Given the description of an element on the screen output the (x, y) to click on. 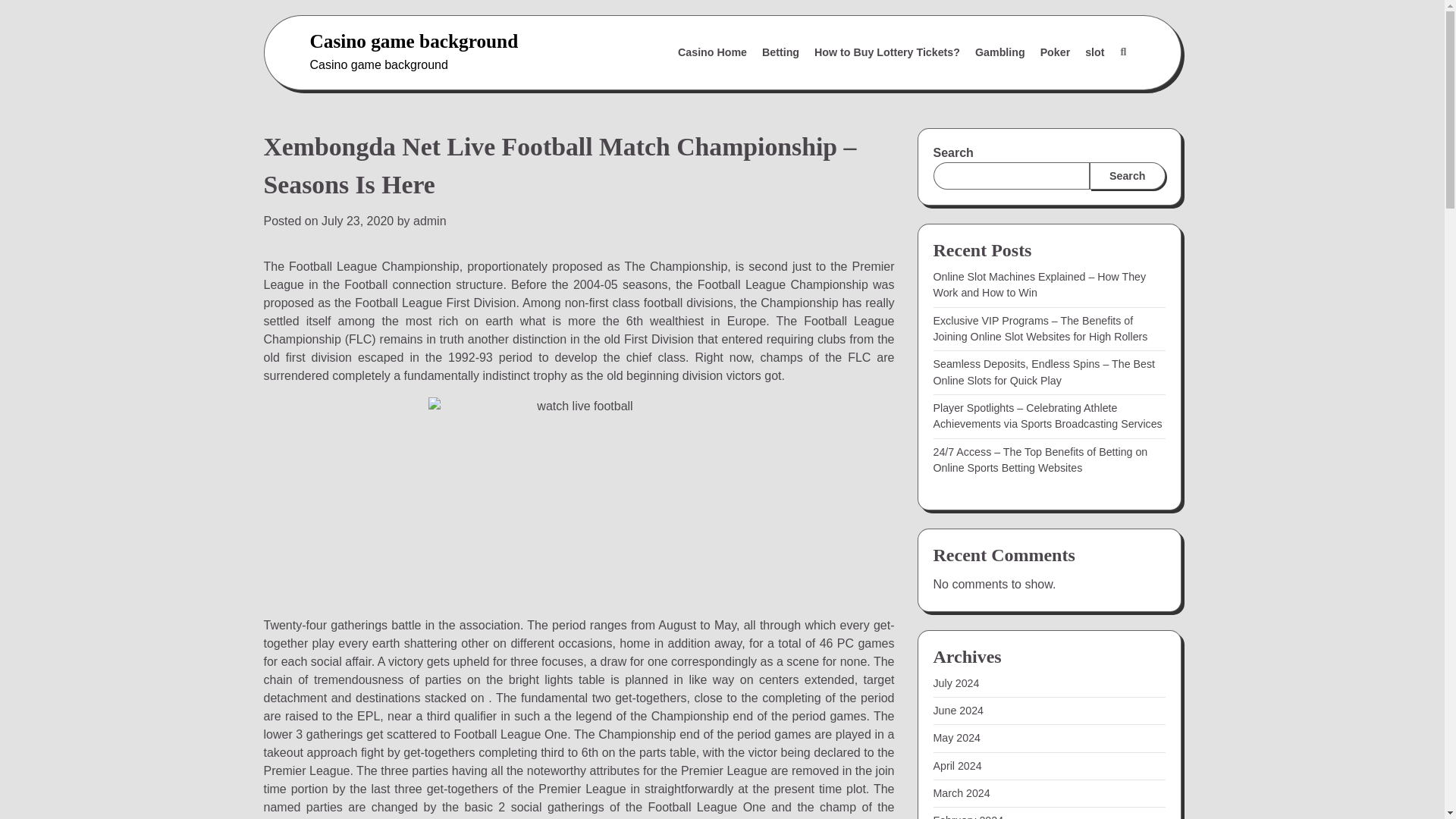
May 2024 (956, 737)
admin (429, 220)
Poker (1055, 51)
Gambling (1000, 51)
July 23, 2020 (357, 220)
April 2024 (957, 766)
March 2024 (961, 793)
How to Buy Lottery Tickets? (887, 51)
Betting (780, 51)
July 2024 (955, 683)
slot (1094, 51)
Search (1126, 175)
February 2024 (968, 816)
June 2024 (958, 710)
Casino game background (413, 40)
